Given the description of an element on the screen output the (x, y) to click on. 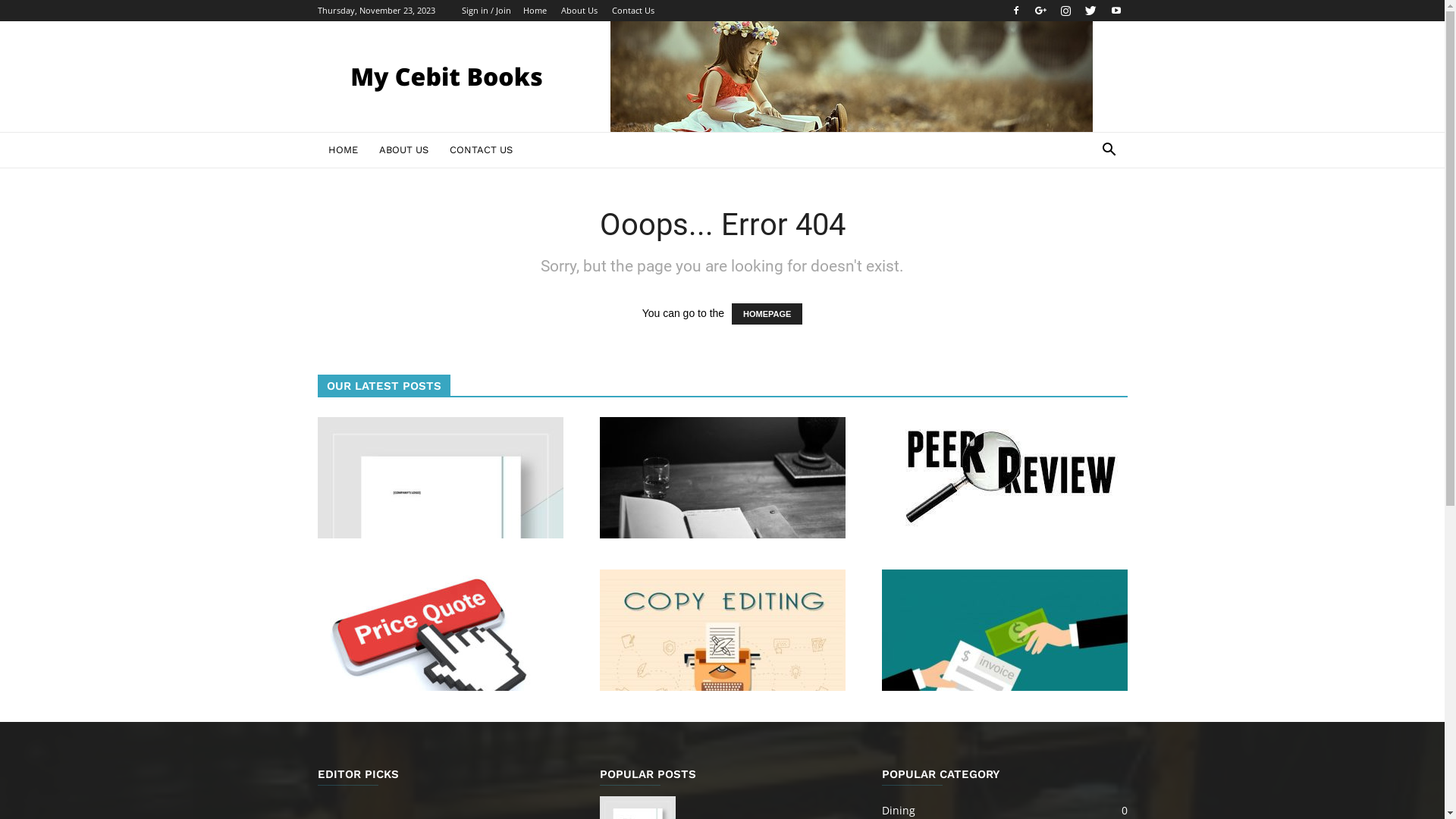
Facebook Element type: hover (1015, 10)
HOME Element type: text (341, 149)
Youtube Element type: hover (1115, 10)
Search Element type: text (1085, 210)
Google+ Element type: hover (1040, 10)
About Us Element type: text (579, 9)
Contact Us Element type: text (632, 9)
HOMEPAGE Element type: text (766, 313)
CONTACT US Element type: text (480, 149)
Instagram Element type: hover (1065, 10)
ABOUT US Element type: text (403, 149)
Twitter Element type: hover (1090, 10)
Home Element type: text (534, 9)
Dining
0 Element type: text (897, 810)
Sign in / Join Element type: text (485, 9)
